Given the description of an element on the screen output the (x, y) to click on. 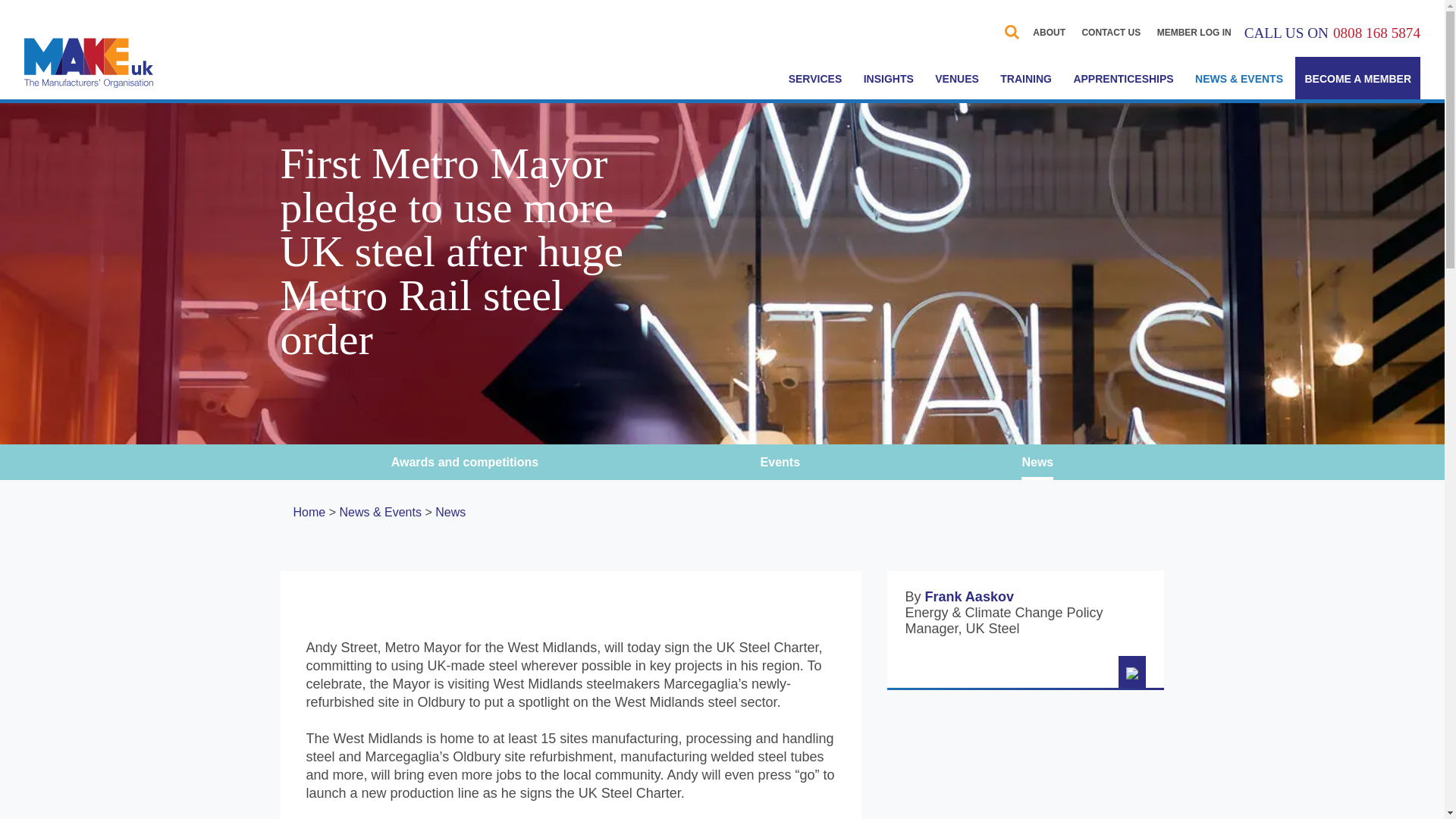
CONTACT US (1110, 32)
0808 168 5874 (1377, 32)
MEMBER LOG IN (1194, 32)
ABOUT (1048, 32)
SERVICES (814, 77)
Open search (1012, 32)
